Given the description of an element on the screen output the (x, y) to click on. 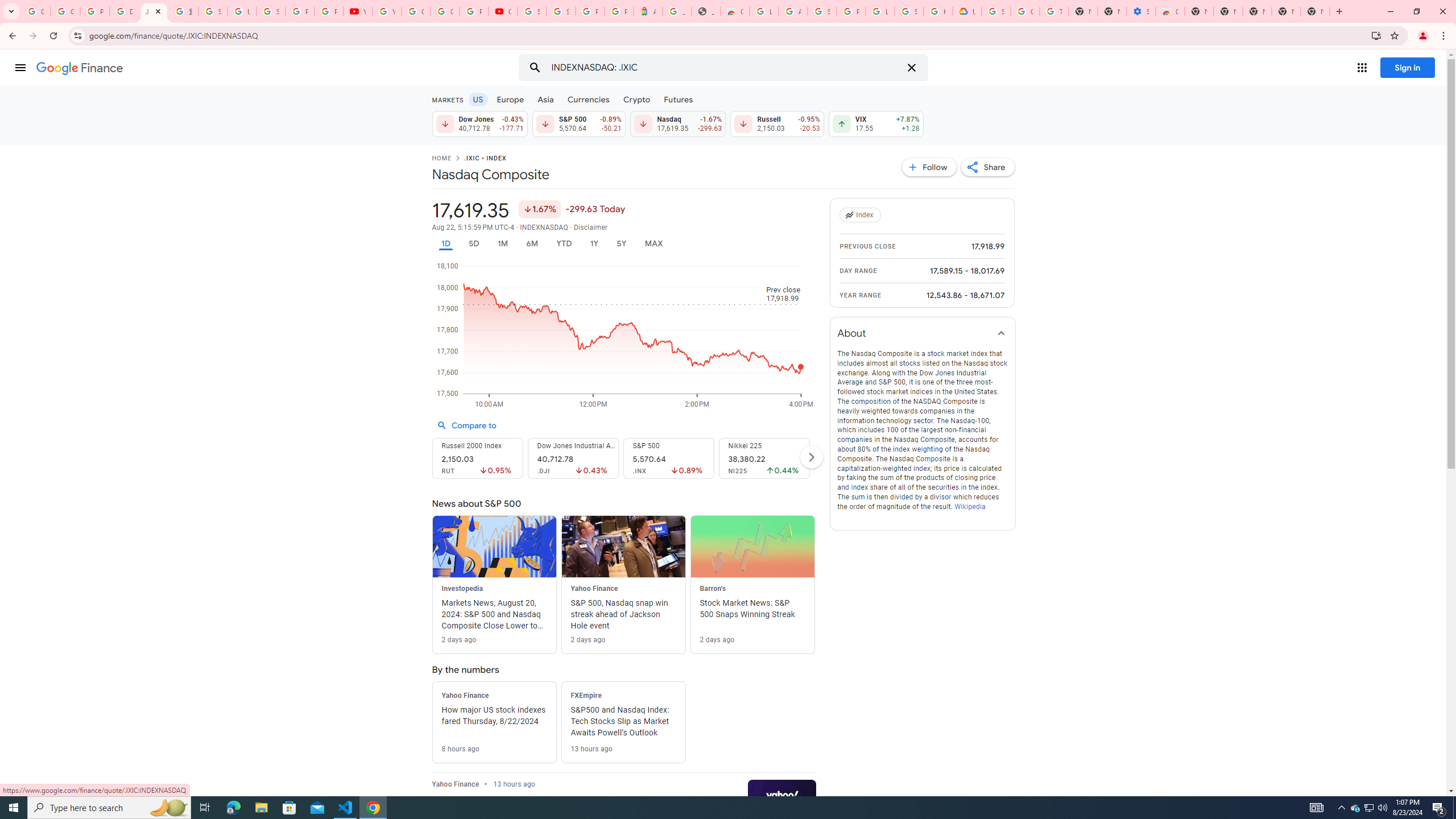
YouTube (357, 11)
Sign in - Google Accounts (560, 11)
Index (861, 214)
Europe (510, 99)
New Tab (1198, 11)
Sign in (1407, 67)
5D (473, 243)
Google Workspace Admin Community (35, 11)
